Given the description of an element on the screen output the (x, y) to click on. 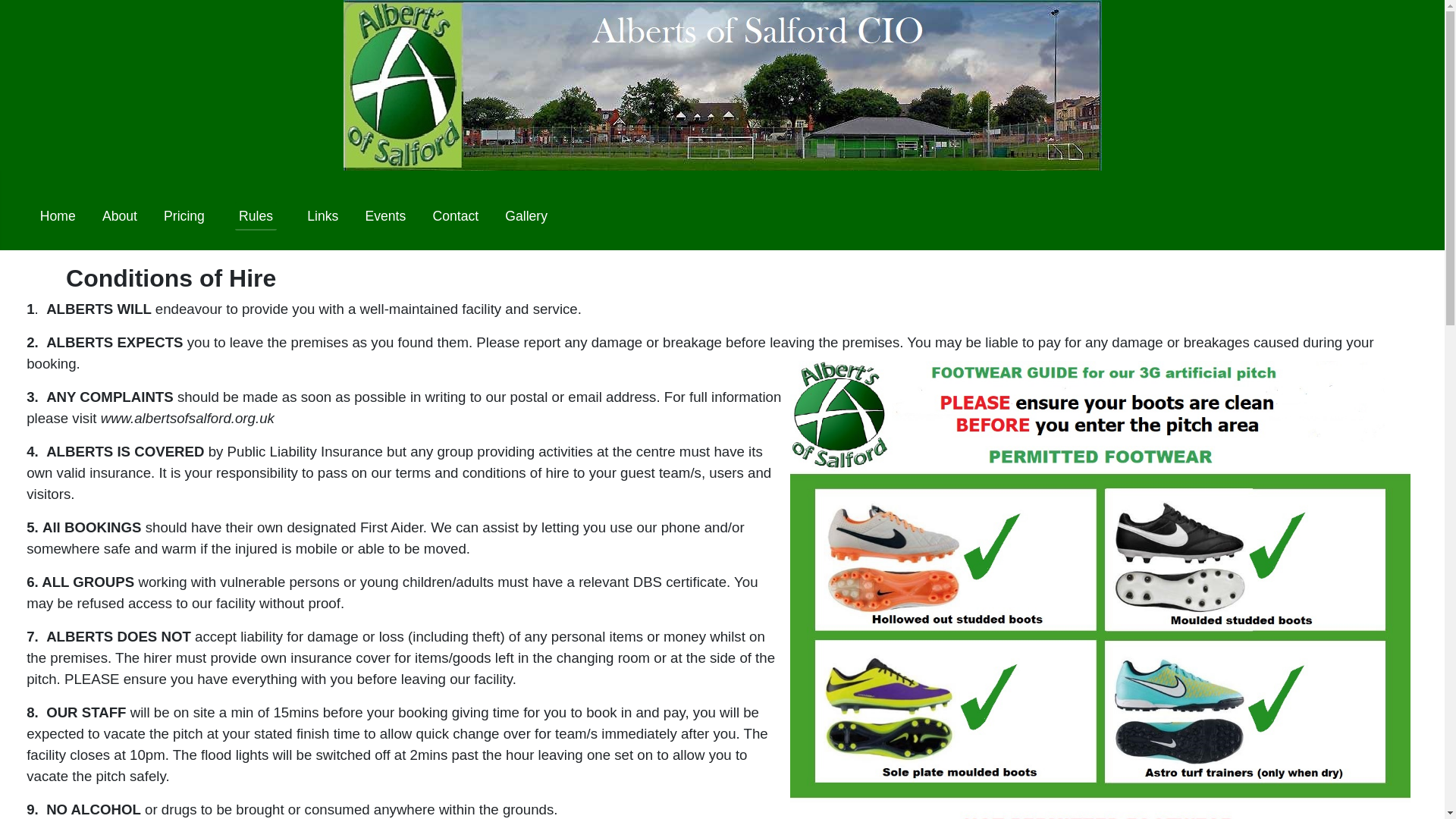
Events (385, 216)
About (118, 216)
Contact (455, 216)
Home (57, 216)
Gallery (526, 216)
Links (322, 216)
Rules (255, 216)
Pricing (184, 216)
